Given the description of an element on the screen output the (x, y) to click on. 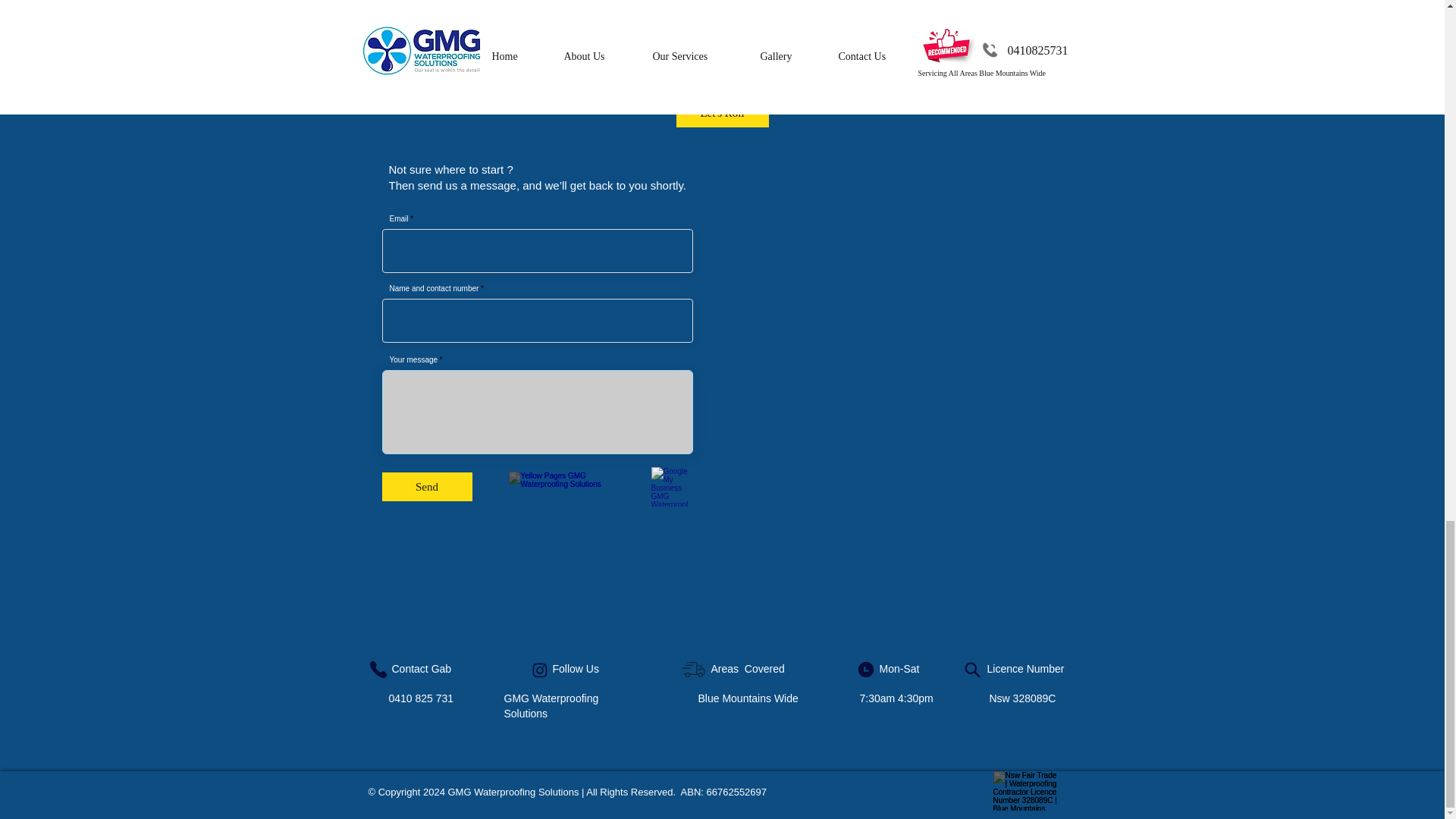
Send (426, 486)
GMG Waterproofing Solutions (550, 705)
